Given the description of an element on the screen output the (x, y) to click on. 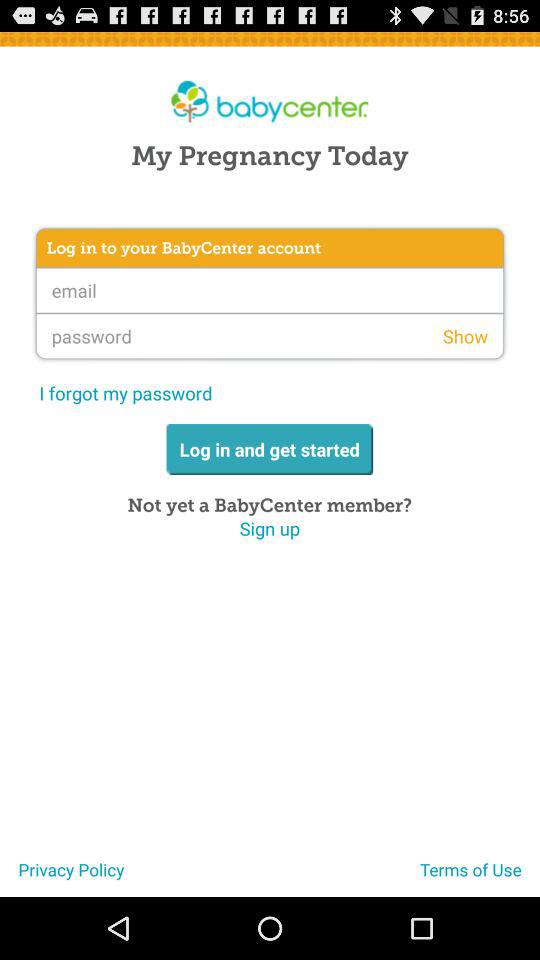
turn on item on the left (125, 392)
